Given the description of an element on the screen output the (x, y) to click on. 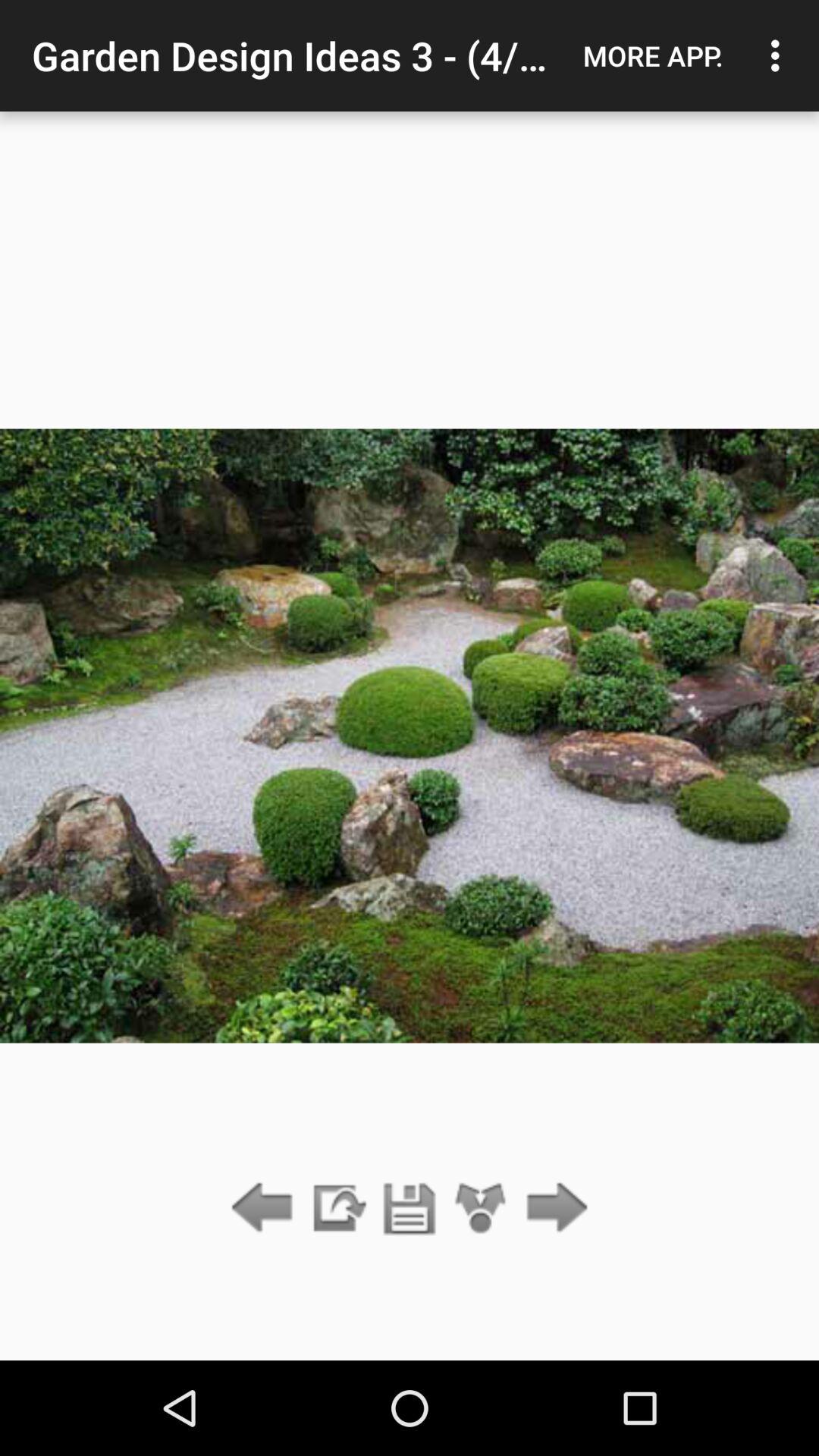
turn off the item to the right of the more app. icon (779, 55)
